Given the description of an element on the screen output the (x, y) to click on. 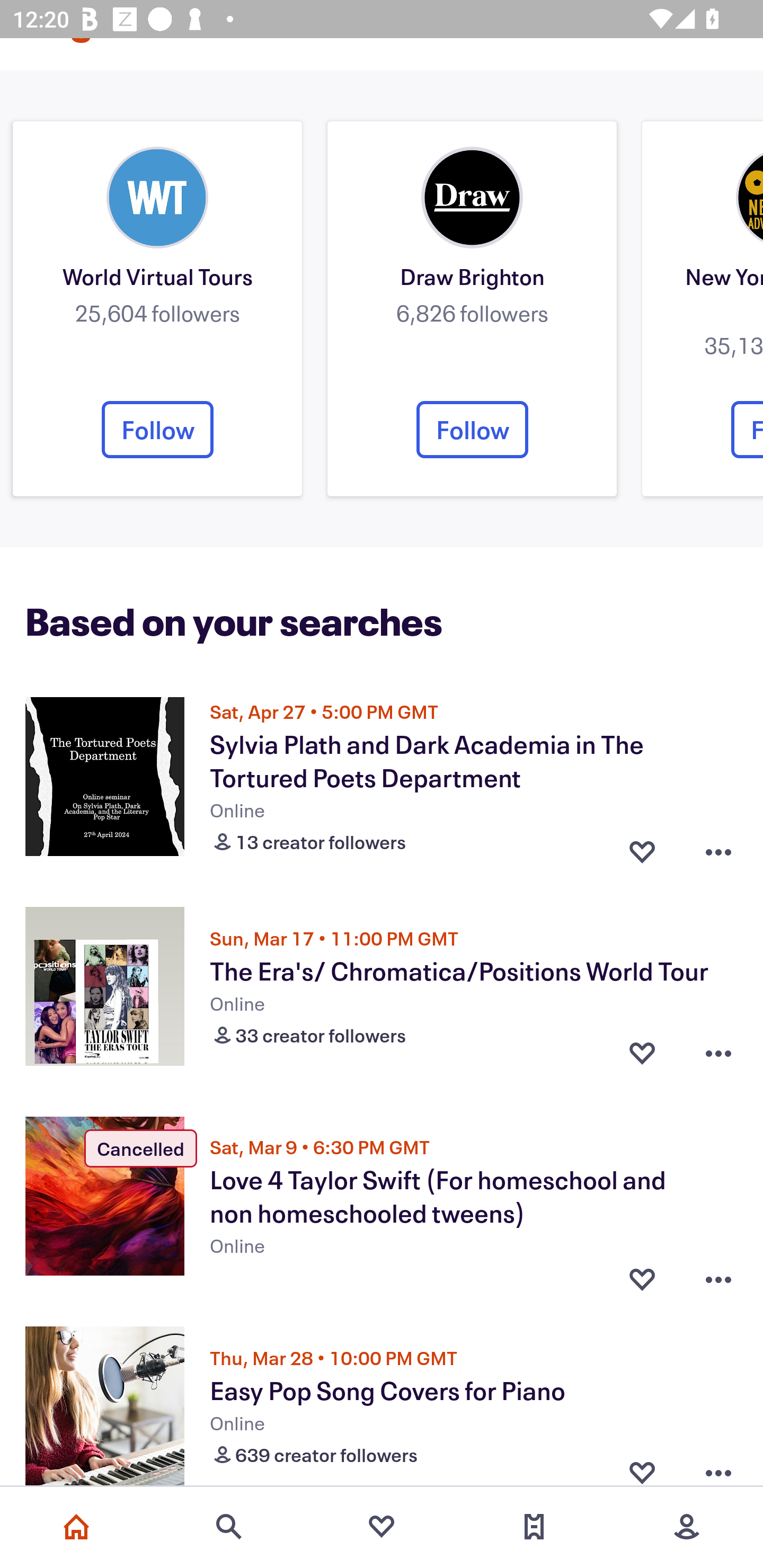
Follow Organizer's follow button (157, 429)
Follow Organizer's follow button (471, 429)
Favorite button (642, 847)
Overflow menu button (718, 847)
Favorite button (642, 1053)
Overflow menu button (718, 1053)
Favorite button (642, 1271)
Overflow menu button (718, 1271)
Favorite button (642, 1462)
Overflow menu button (718, 1462)
Home (76, 1526)
Search events (228, 1526)
Favorites (381, 1526)
Tickets (533, 1526)
More (686, 1526)
